Given the description of an element on the screen output the (x, y) to click on. 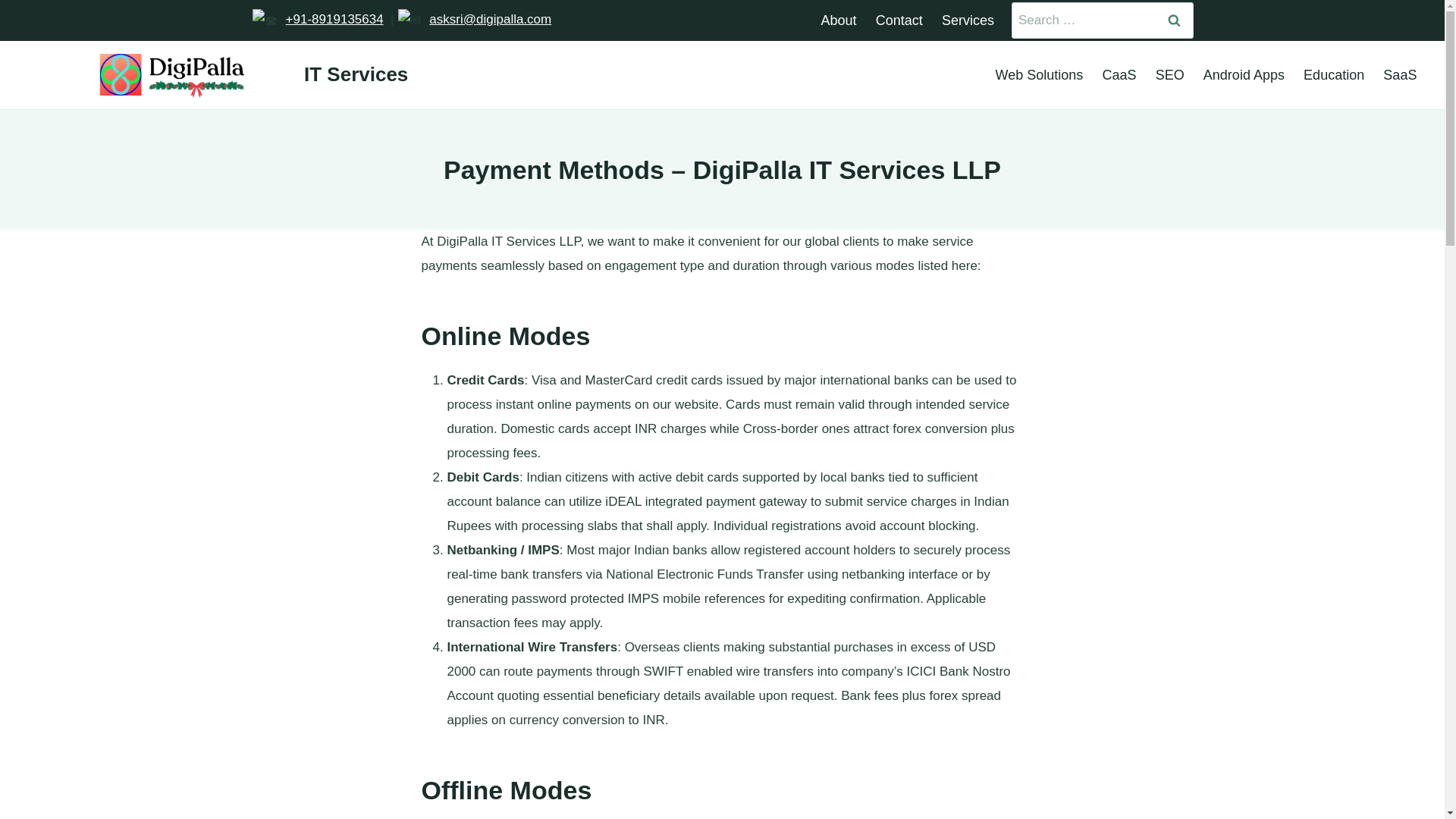
About (838, 20)
Search (1174, 20)
Services (967, 20)
Search (1174, 20)
Education (1334, 74)
IT Services (227, 74)
Contact (898, 20)
Android Apps (1243, 74)
SaaS (1400, 74)
Web Solutions (1039, 74)
SEO (1169, 74)
CaaS (1119, 74)
Search (1174, 20)
